Given the description of an element on the screen output the (x, y) to click on. 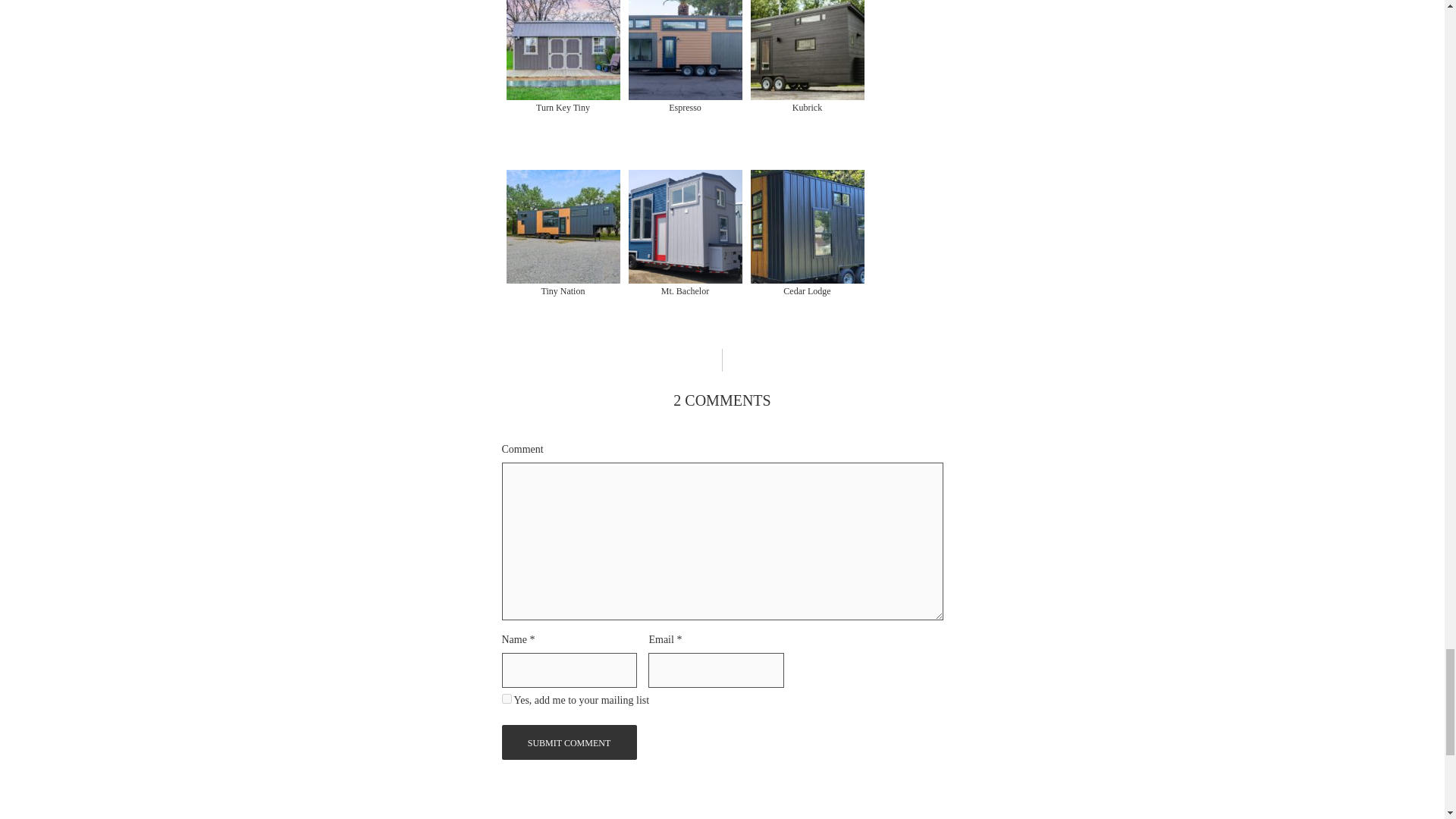
Submit Comment (569, 742)
1 (507, 698)
